Given the description of an element on the screen output the (x, y) to click on. 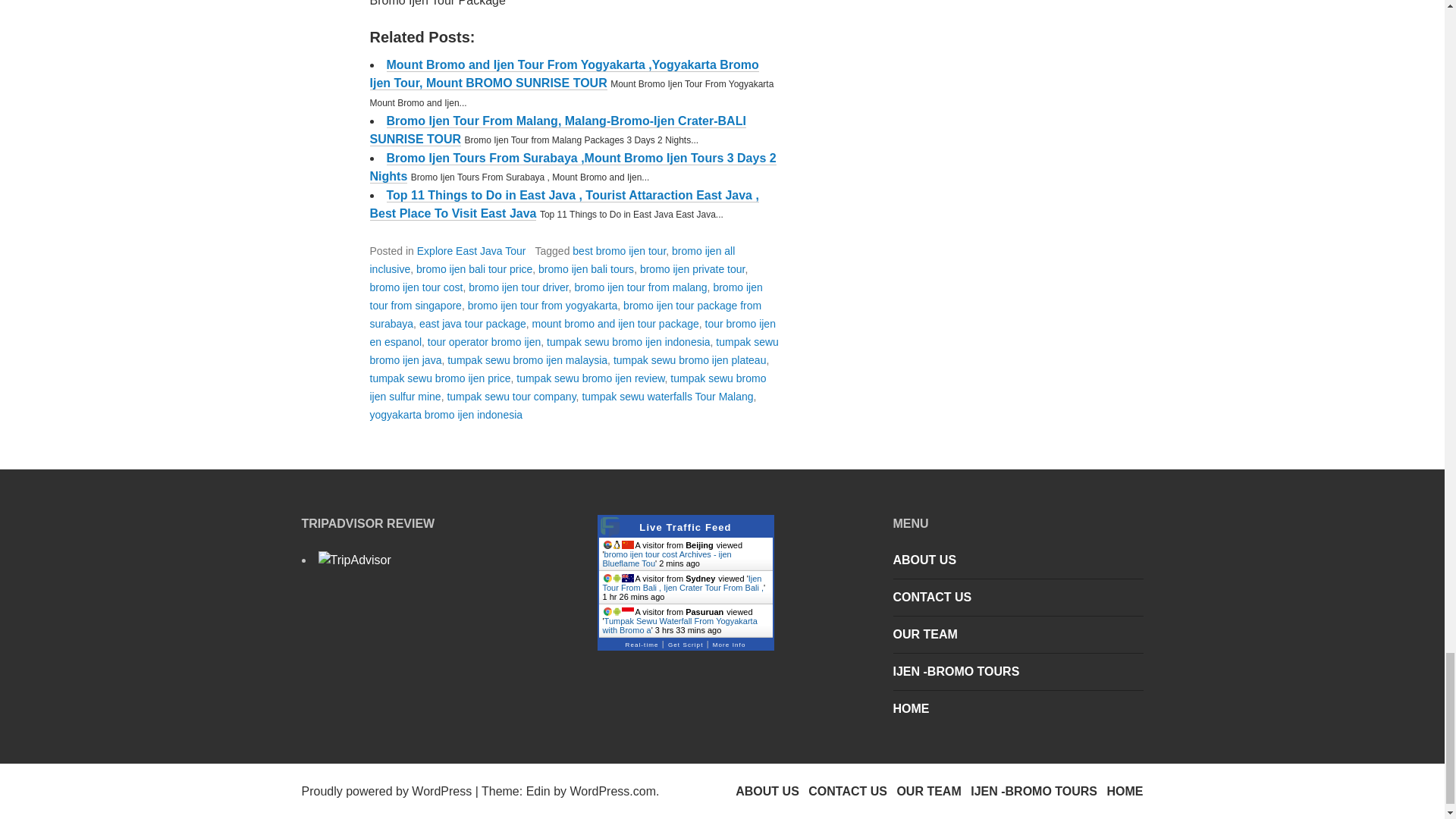
tumpak sewu bromo ijen price (440, 378)
tumpak sewu bromo ijen java (573, 350)
tumpak sewu waterfalls Tour Malang (666, 396)
bromo ijen private tour (692, 268)
best bromo ijen tour (618, 250)
east java tour package (472, 323)
tour bromo ijen en espanol (572, 332)
bromo ijen tour driver (518, 287)
mount bromo and ijen tour package (615, 323)
yogyakarta bromo ijen indonesia (445, 414)
bromo ijen tour from singapore (565, 296)
tumpak sewu bromo ijen review (589, 378)
